Given the description of an element on the screen output the (x, y) to click on. 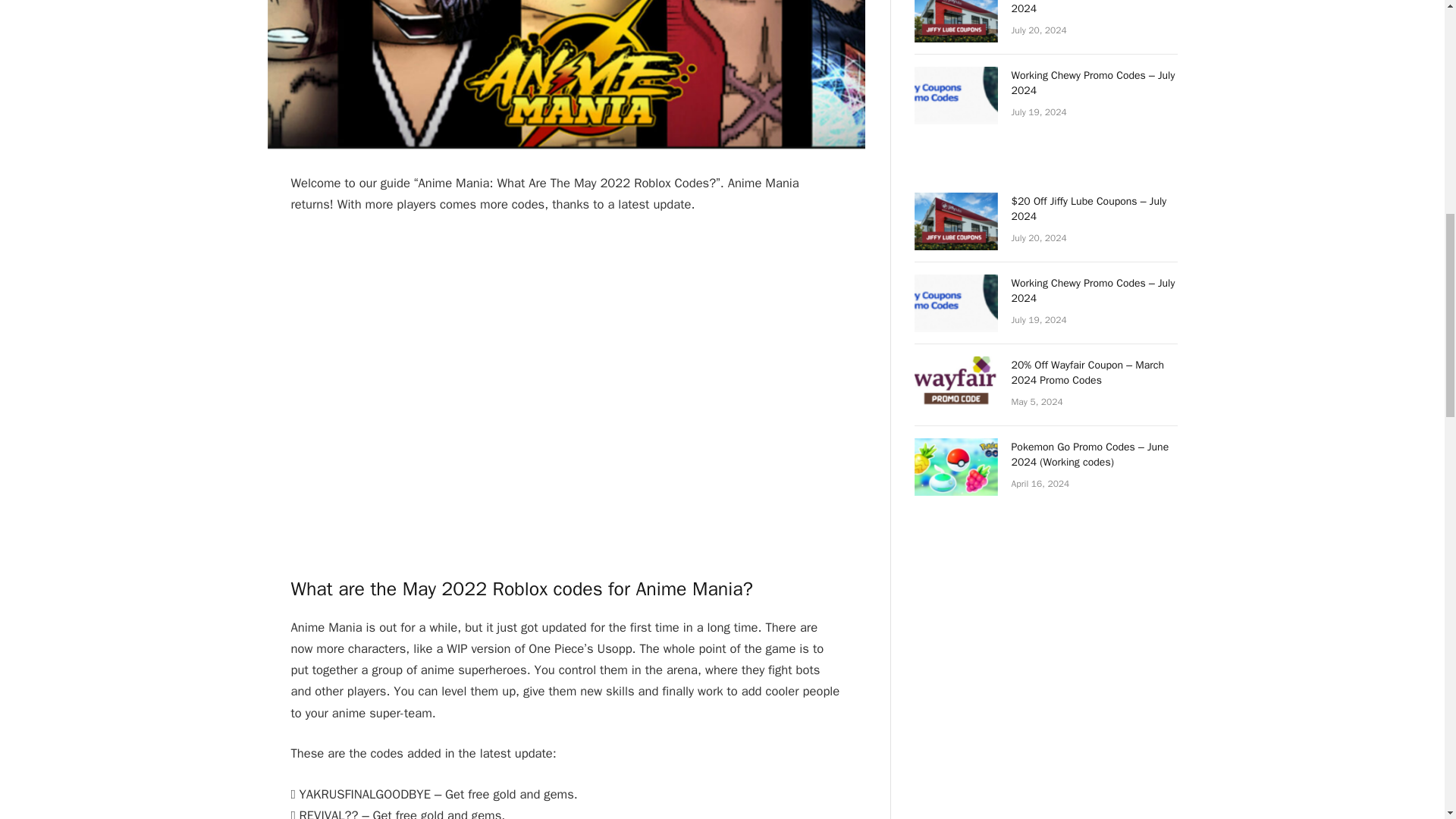
Anime Mania: What Are The May 2022 Roblox Codes? (565, 74)
